Given the description of an element on the screen output the (x, y) to click on. 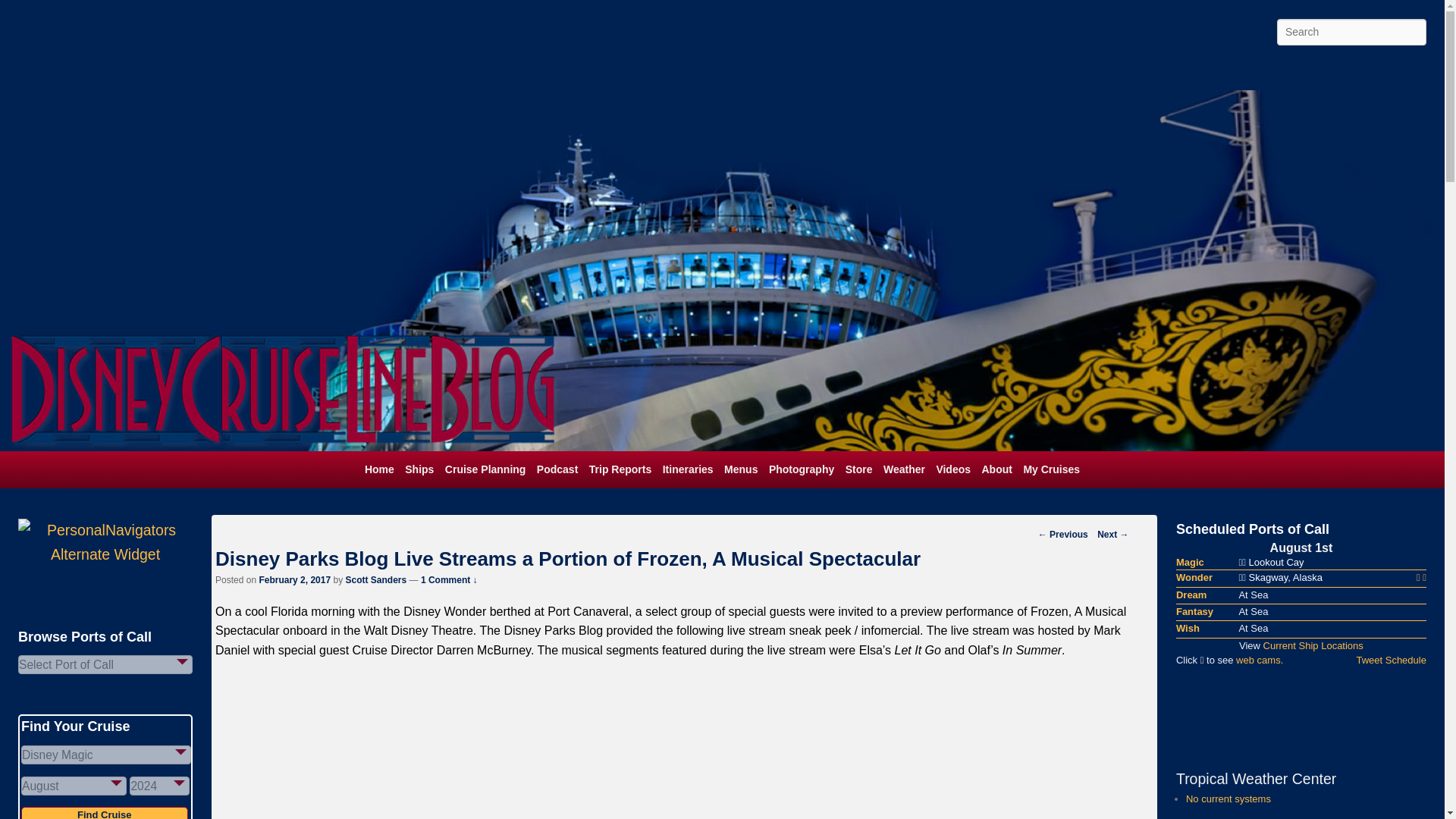
RSS (1346, 73)
Ships (419, 469)
RSS (1346, 73)
Instagram (1380, 73)
Home (379, 469)
Twitter (1246, 73)
Instagram (1380, 73)
YouTube (1313, 73)
Twitter (1246, 73)
Email (1413, 73)
Facebook (1212, 73)
Pinterest (1279, 73)
Pinterest (1279, 73)
Facebook (1212, 73)
Home (379, 469)
